Given the description of an element on the screen output the (x, y) to click on. 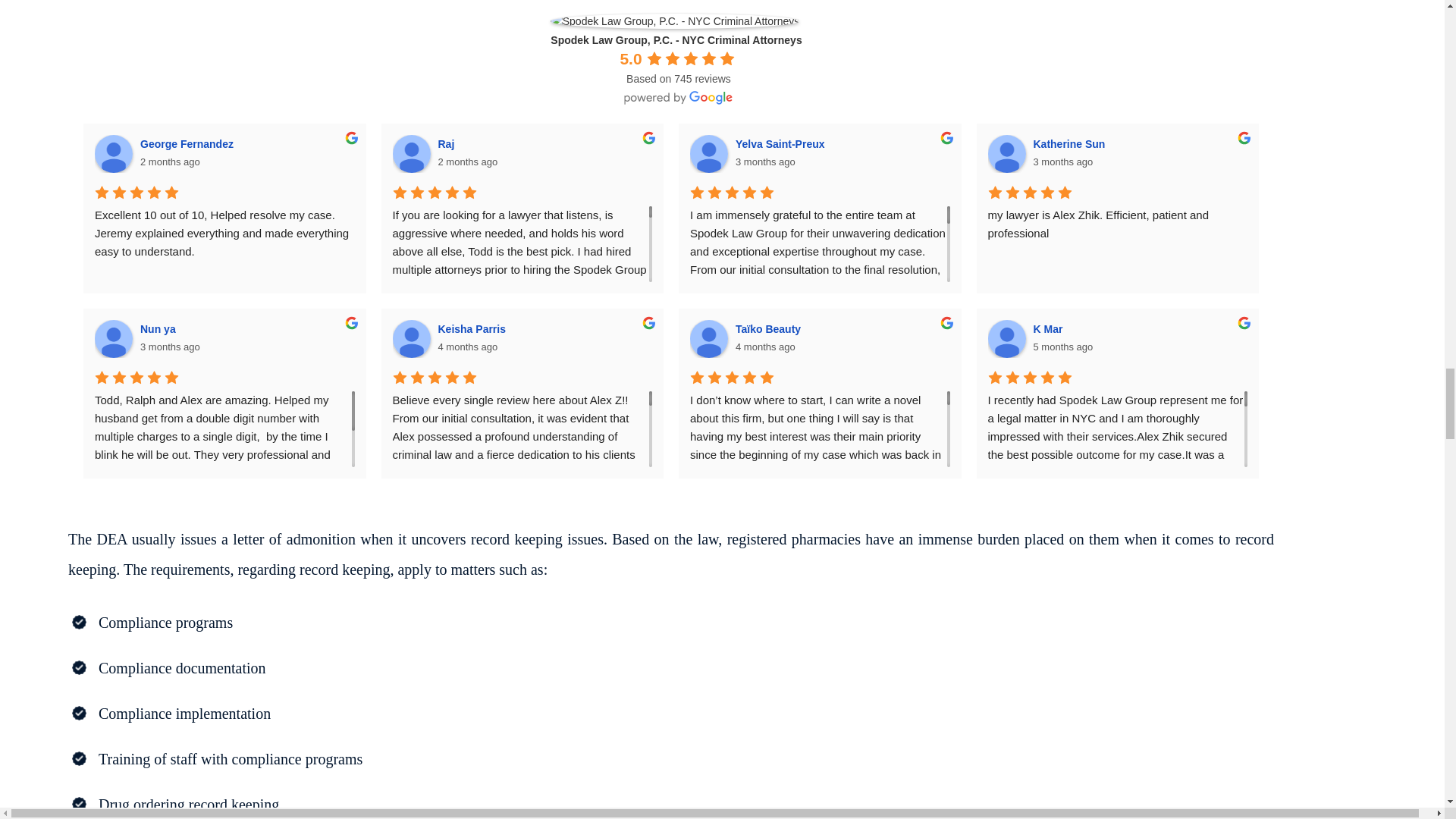
K Mar (1006, 338)
Raj (411, 153)
Spodek Law Group, P.C. - NYC Criminal Attorneys (674, 20)
Yelva Saint-Preux (709, 153)
George Fernandez (113, 153)
Nun ya (113, 338)
Keisha Parris (411, 338)
Katherine Sun (1006, 153)
powered by Google (678, 97)
